Given the description of an element on the screen output the (x, y) to click on. 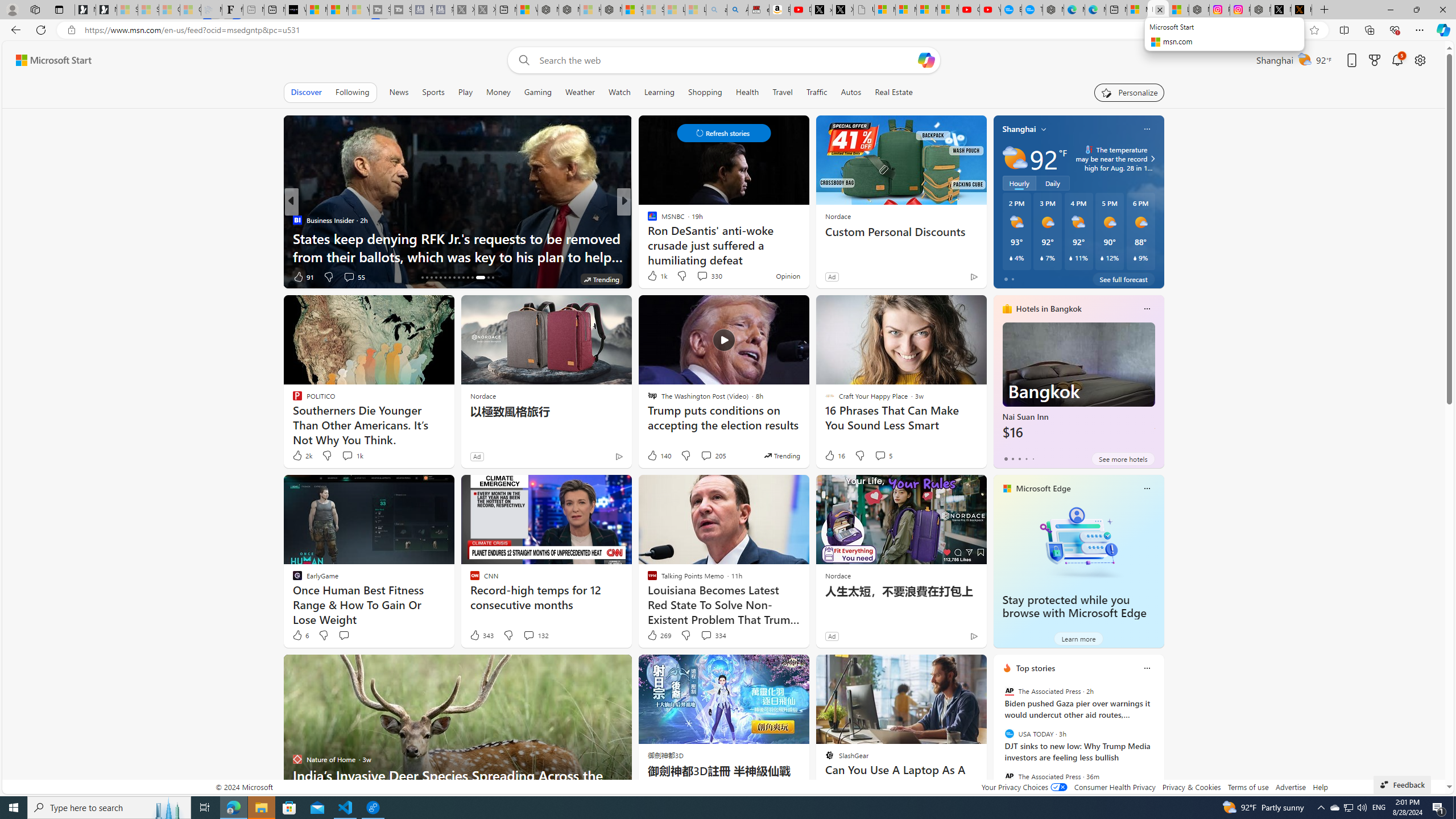
AutomationID: tab-19 (435, 277)
View comments 330 Comment (701, 275)
Autos (851, 92)
Business Insider (296, 219)
Real Estate (893, 92)
AutomationID: tab-18 (431, 277)
